Given the description of an element on the screen output the (x, y) to click on. 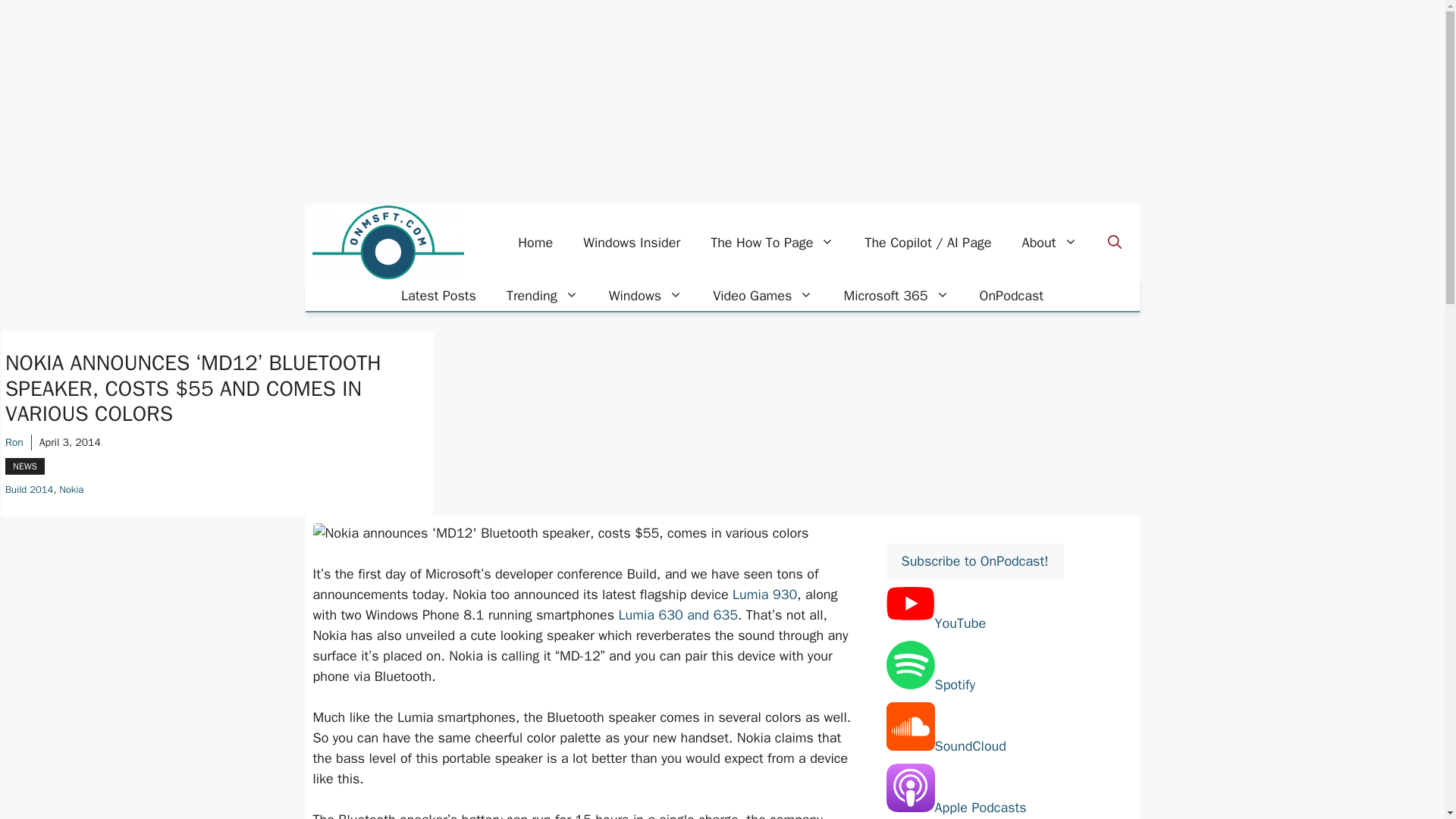
Latest Posts (438, 295)
Windows (645, 295)
Windows Insider (631, 242)
Trending (543, 295)
The How To Page (771, 242)
Home (534, 242)
Video Games (762, 295)
About (1050, 242)
